Given the description of an element on the screen output the (x, y) to click on. 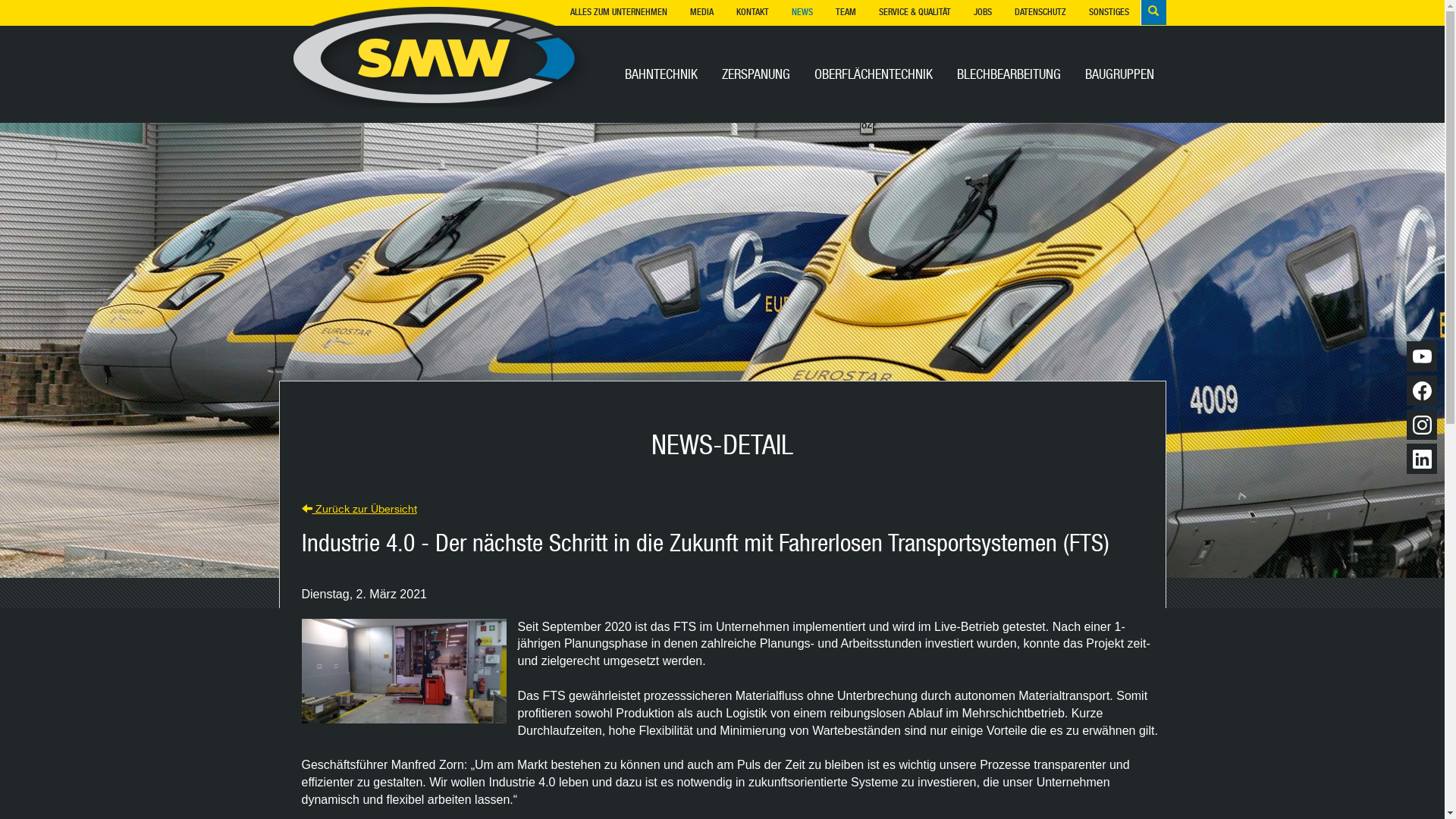
BLECHBEARBEITUNG Element type: text (1008, 75)
BAHNTECHNIK Element type: text (660, 75)
ALLES ZUM UNTERNEHMEN Element type: text (617, 10)
SONSTIGES Element type: text (1107, 10)
TEAM Element type: text (844, 10)
KONTAKT Element type: text (752, 10)
ZERSPANUNG Element type: text (755, 75)
MEDIA Element type: text (700, 10)
DATENSCHUTZ Element type: text (1039, 10)
NEWS Element type: text (801, 10)
JOBS Element type: text (981, 10)
BAUGRUPPEN Element type: text (1118, 75)
